Given the description of an element on the screen output the (x, y) to click on. 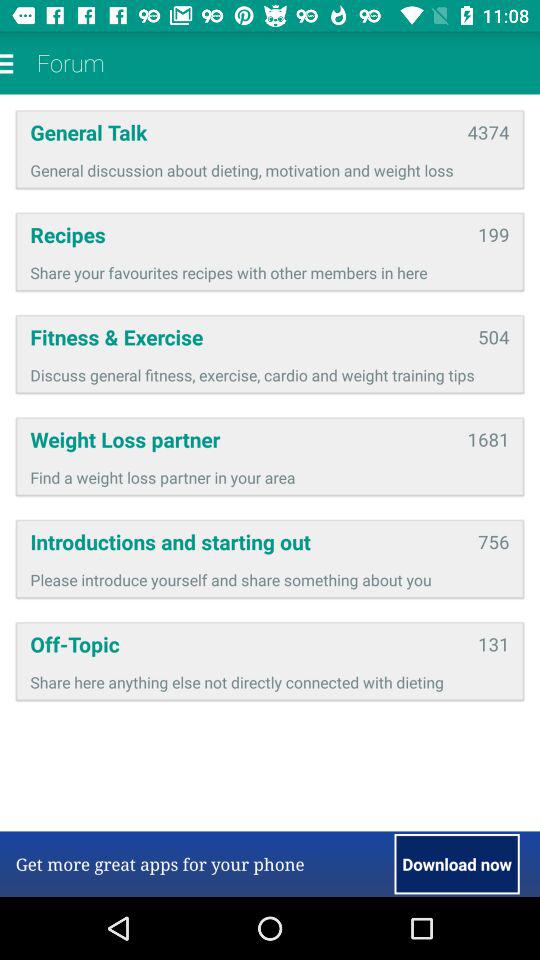
turn on the app below find a weight app (247, 541)
